Given the description of an element on the screen output the (x, y) to click on. 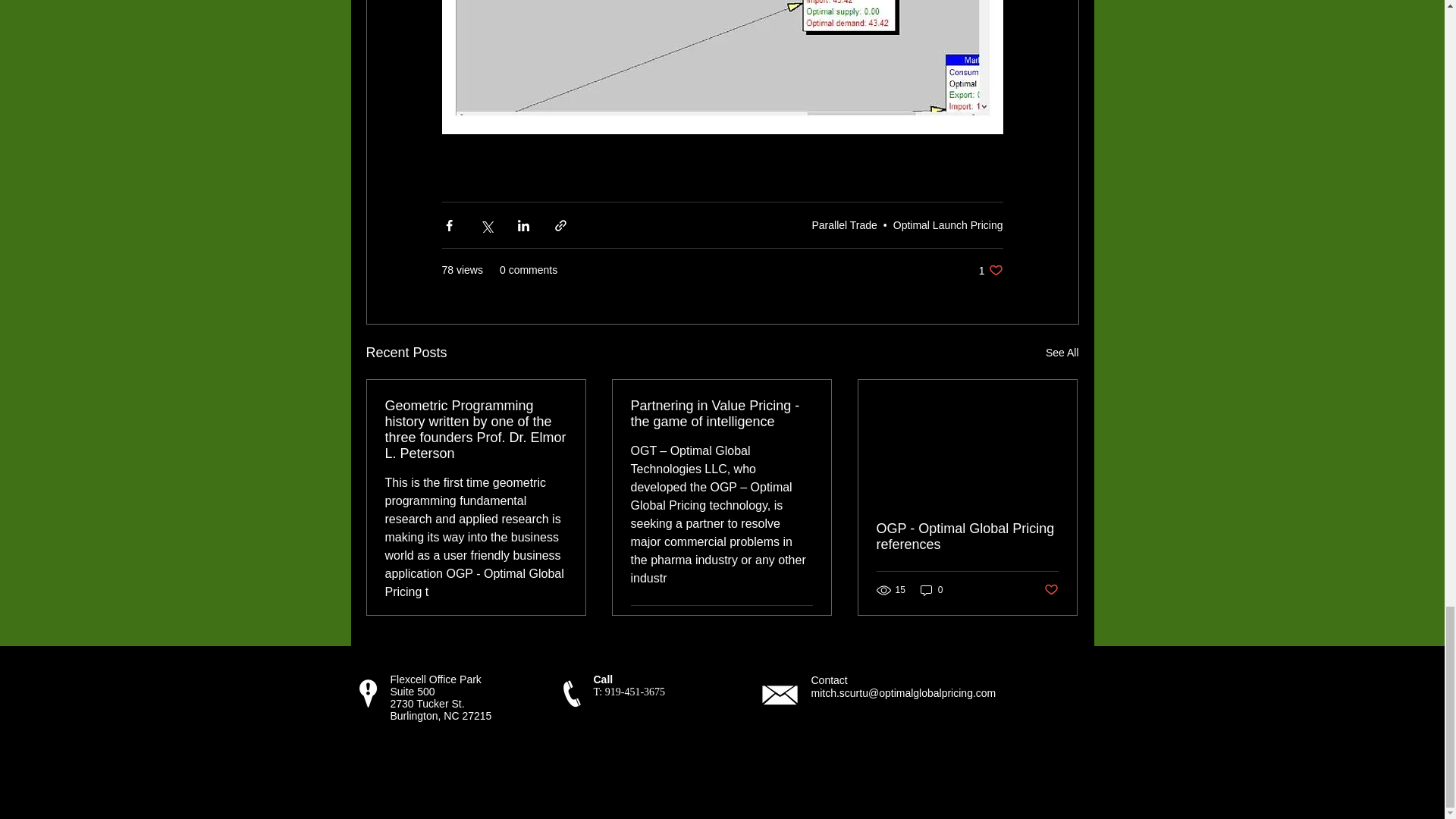
Partnering in Value Pricing - the game of intelligence (721, 413)
Optimal Launch Pricing (948, 224)
0 (931, 590)
Post not marked as liked (990, 269)
OGP - Optimal Global Pricing references (1050, 590)
See All (967, 536)
Parallel Trade (1061, 352)
